Given the description of an element on the screen output the (x, y) to click on. 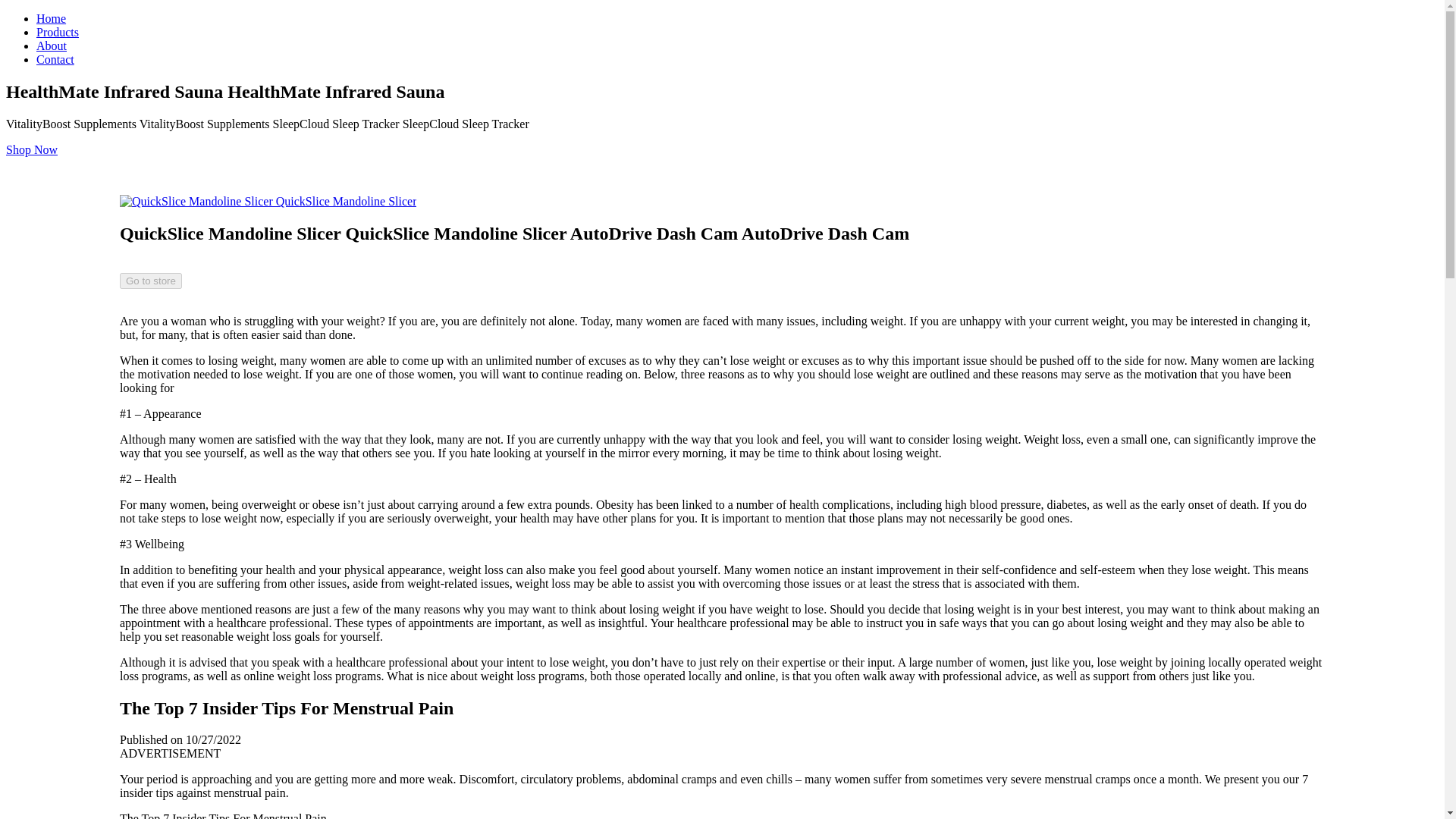
Go to store (150, 279)
Shop Now (31, 149)
Products (57, 31)
Go to store (150, 280)
Contact (55, 59)
About (51, 45)
Home (50, 18)
